Given the description of an element on the screen output the (x, y) to click on. 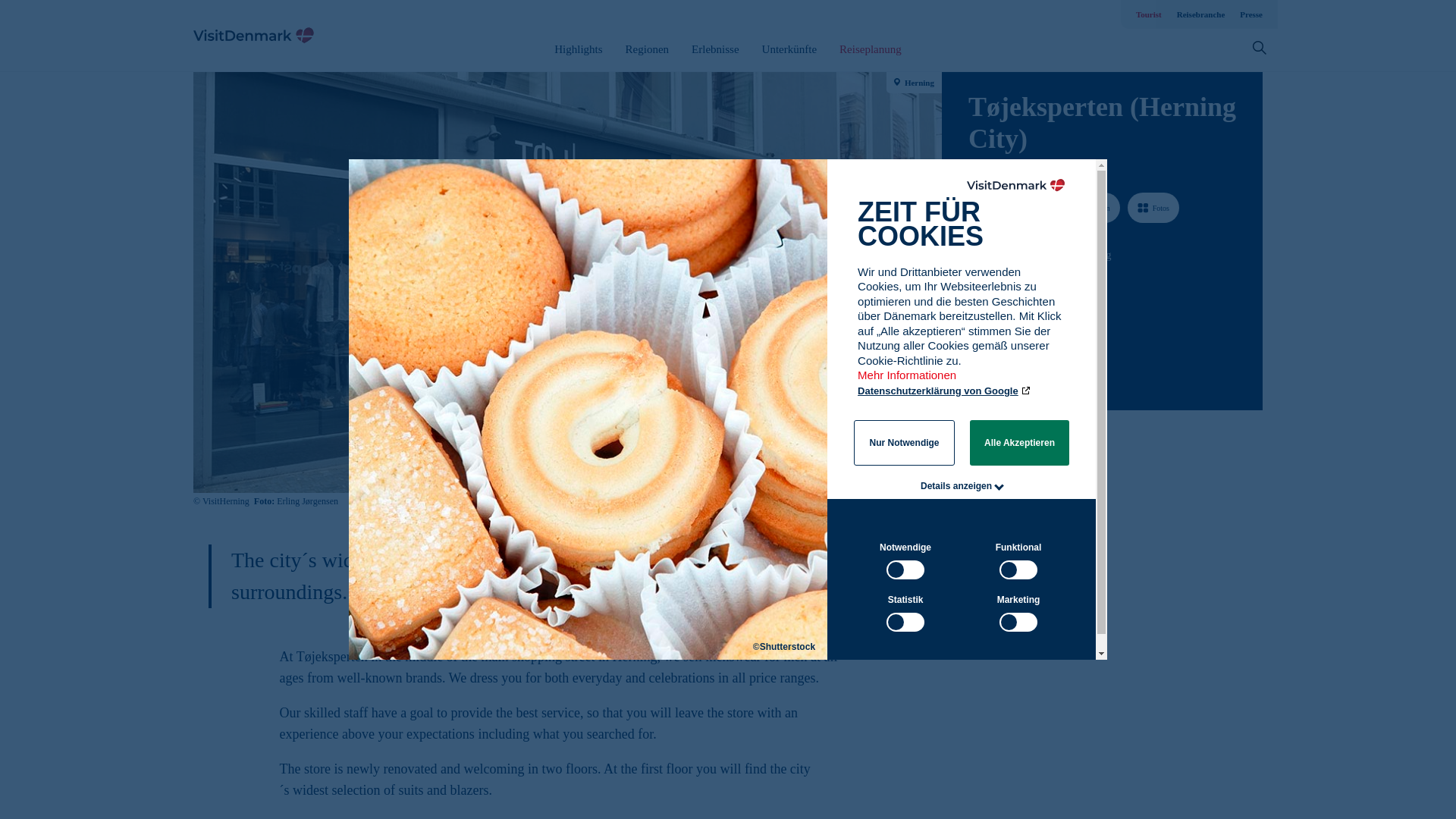
Nur Notwendige (904, 443)
Details anzeigen (955, 485)
Mehr Informationen (908, 382)
Path (973, 342)
Path (973, 282)
Alle Akzeptieren (1018, 443)
